Given the description of an element on the screen output the (x, y) to click on. 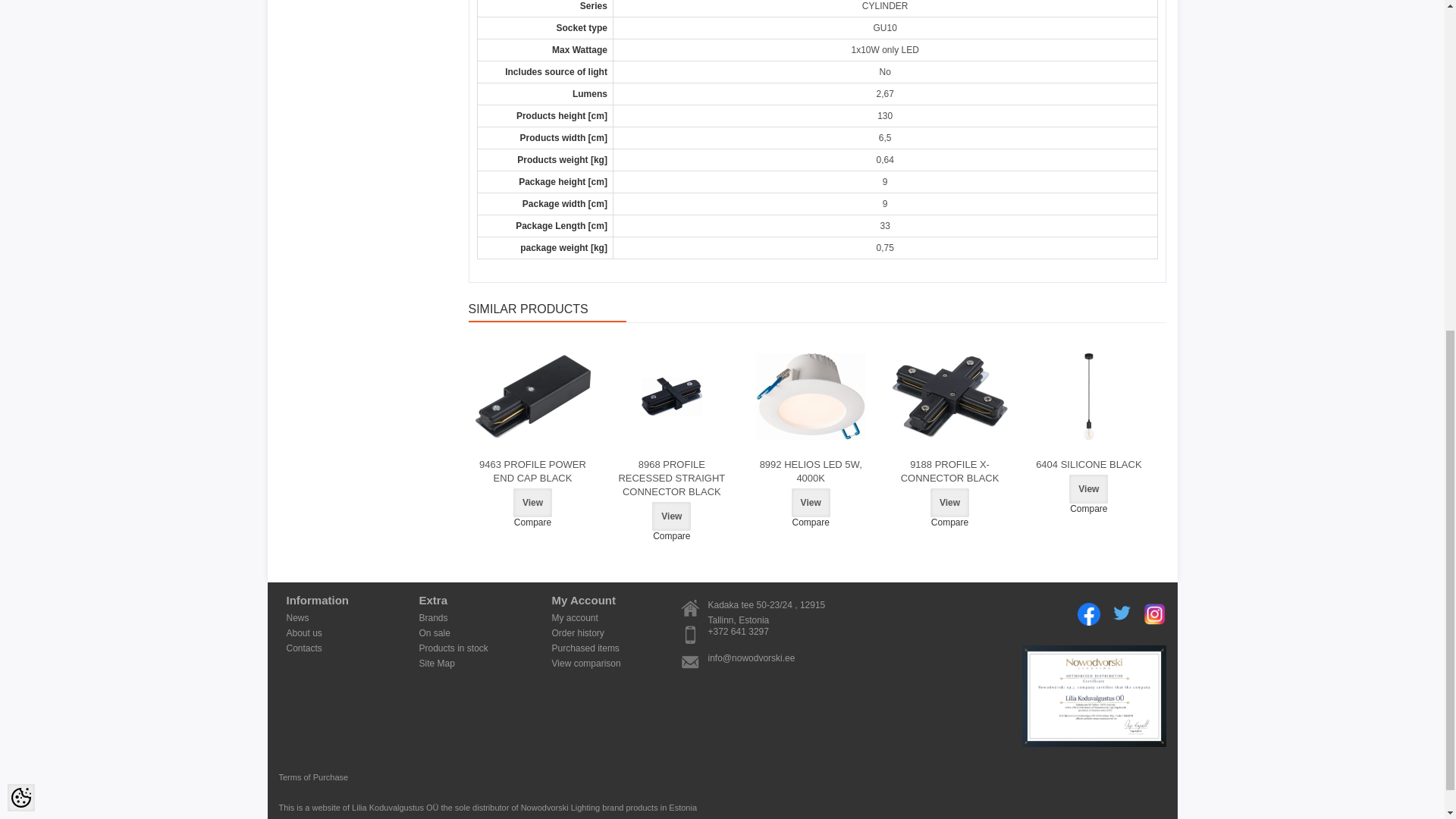
Compare (810, 521)
Compare (949, 521)
Compare (671, 535)
Cookie Preferences (20, 227)
Compare (531, 521)
Compare (1089, 508)
